Given the description of an element on the screen output the (x, y) to click on. 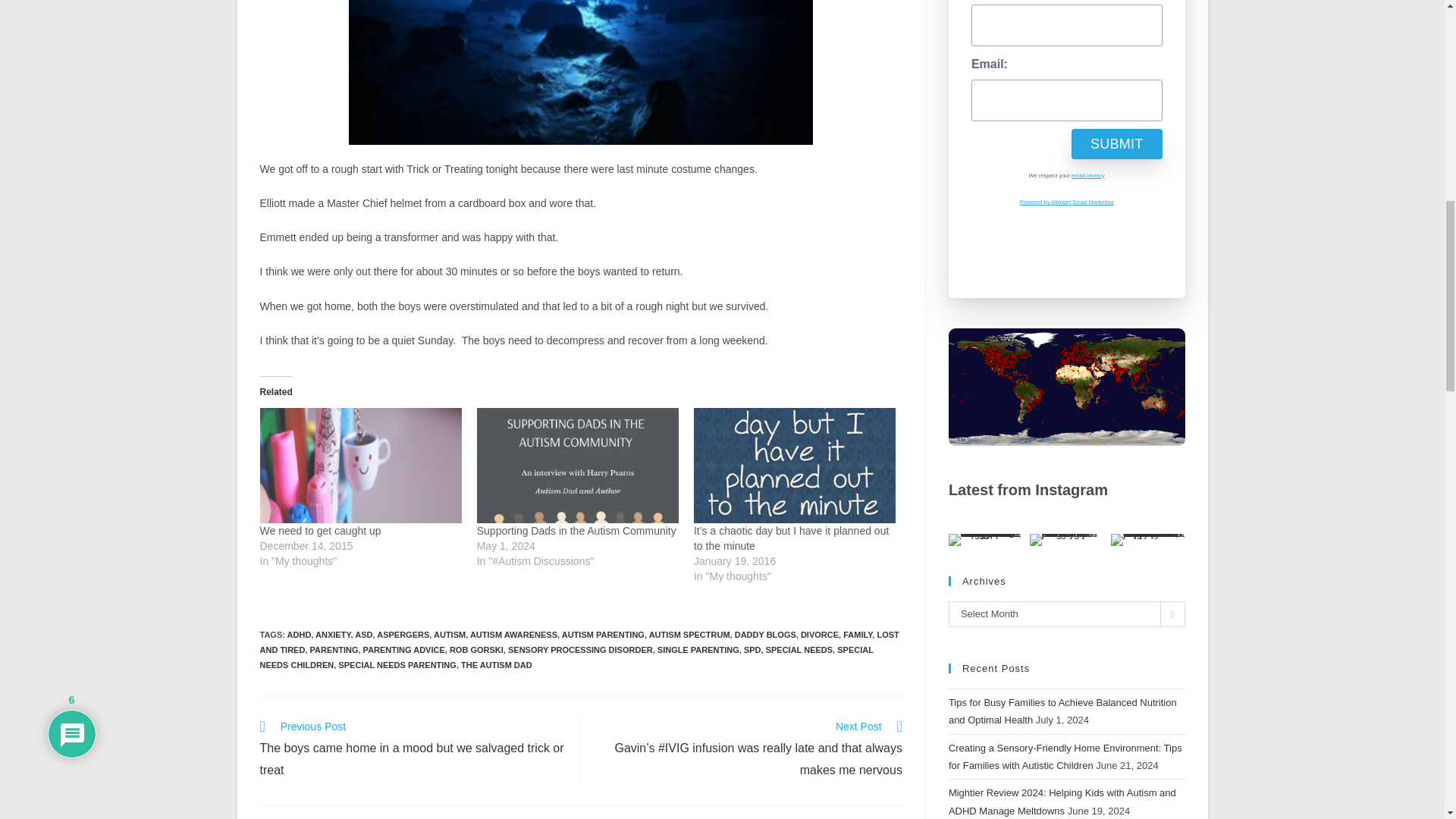
Supporting Dads in the Autism Community (577, 530)
We need to get caught up (360, 465)
We need to get caught up (319, 530)
Supporting Dads in the Autism Community (577, 465)
Submit (1116, 143)
